Given the description of an element on the screen output the (x, y) to click on. 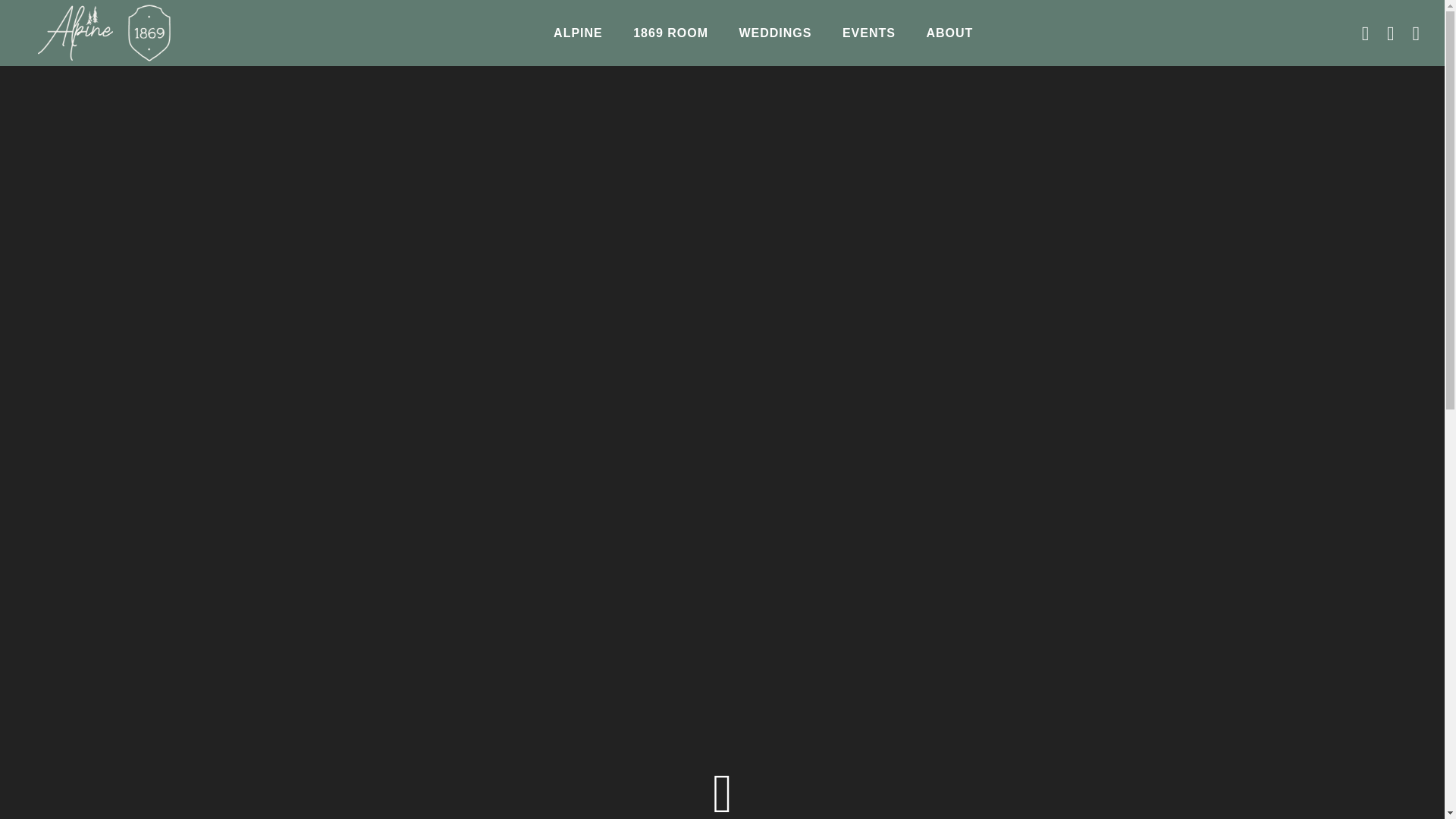
WEDDINGS (775, 33)
ALPINE (577, 33)
1869 ROOM (671, 33)
EVENTS (868, 33)
ABOUT (949, 33)
